Given the description of an element on the screen output the (x, y) to click on. 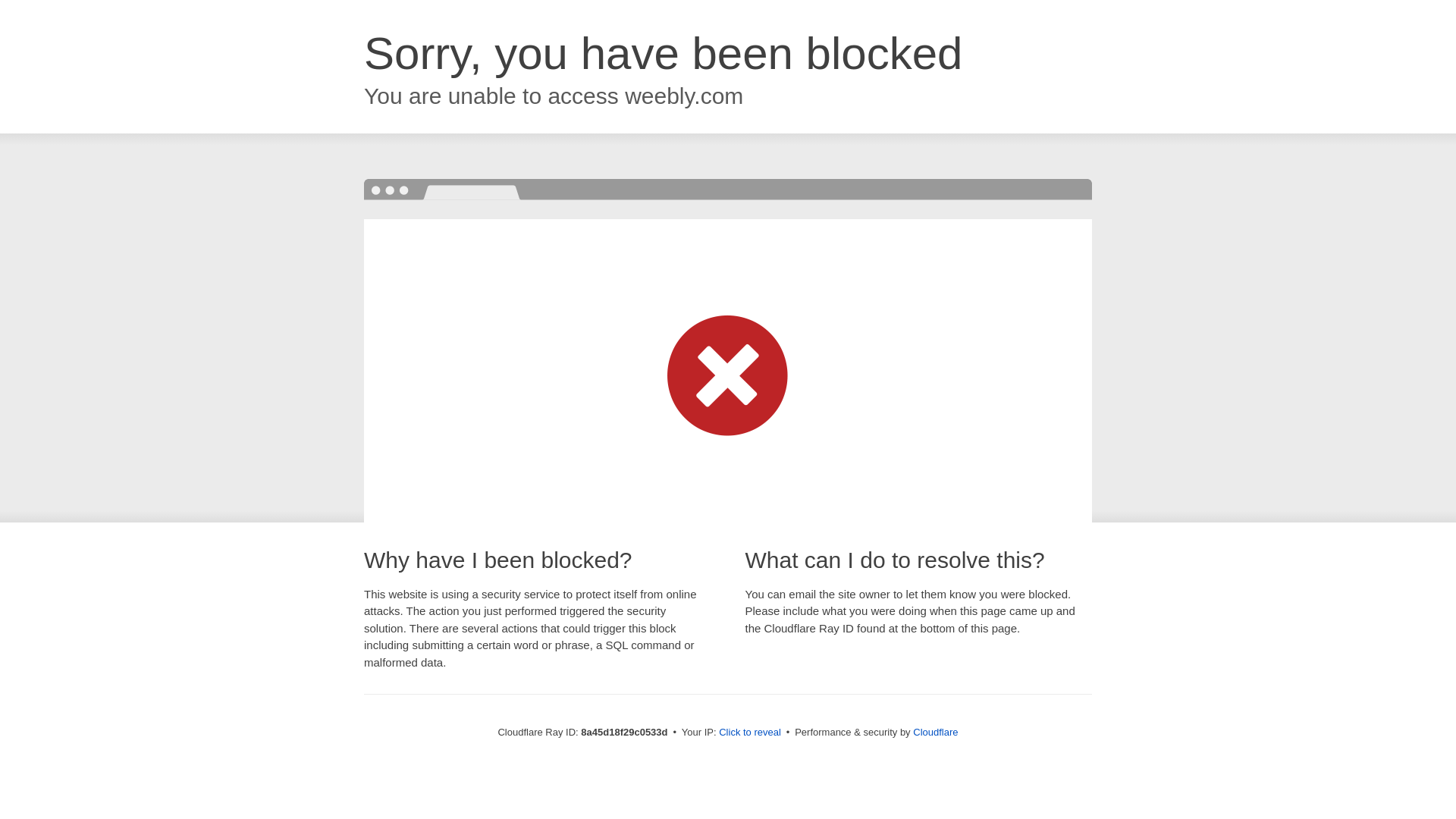
Click to reveal (749, 732)
Cloudflare (935, 731)
